Given the description of an element on the screen output the (x, y) to click on. 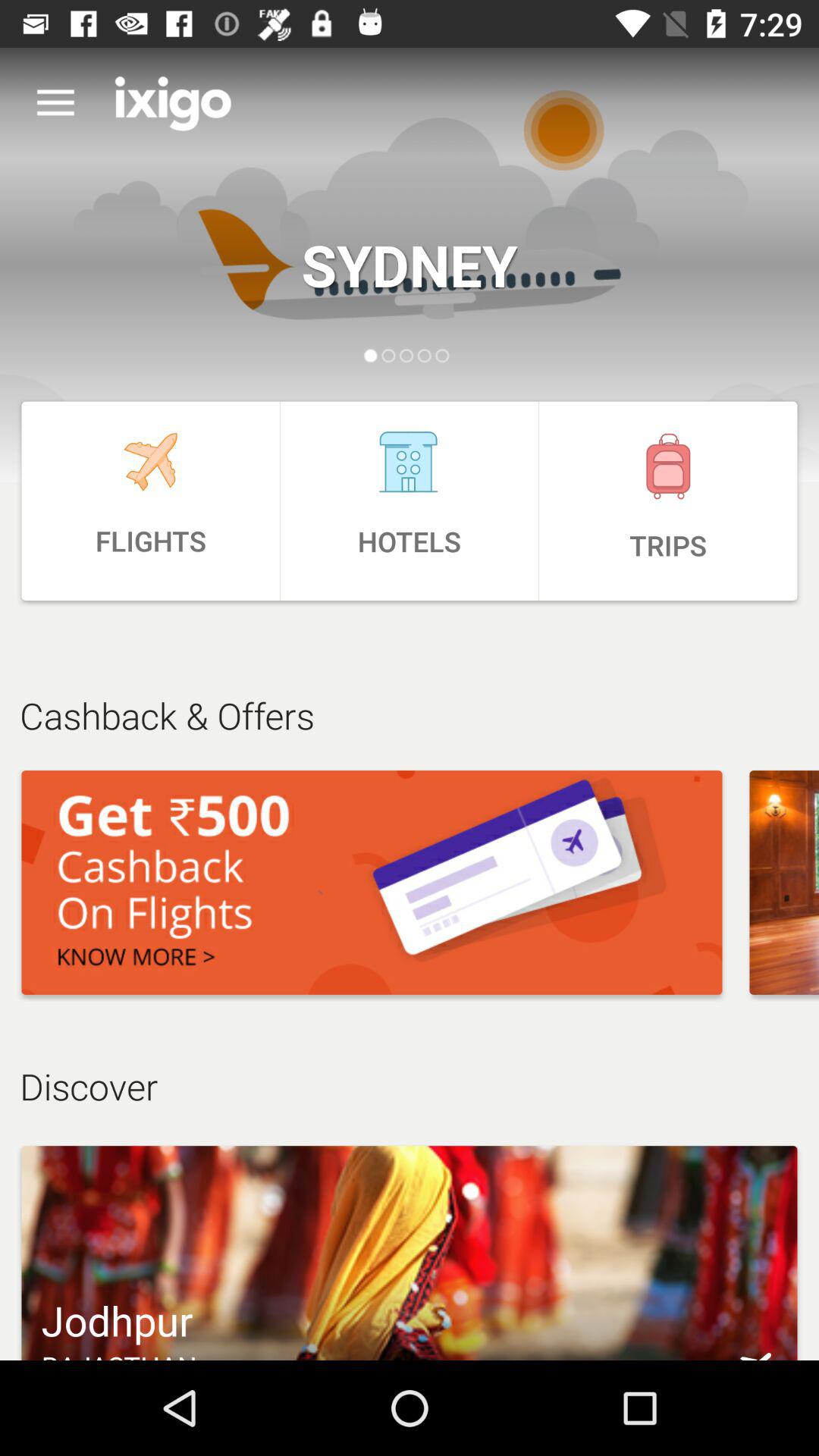
turn off the icon above cashback & offers (150, 500)
